Given the description of an element on the screen output the (x, y) to click on. 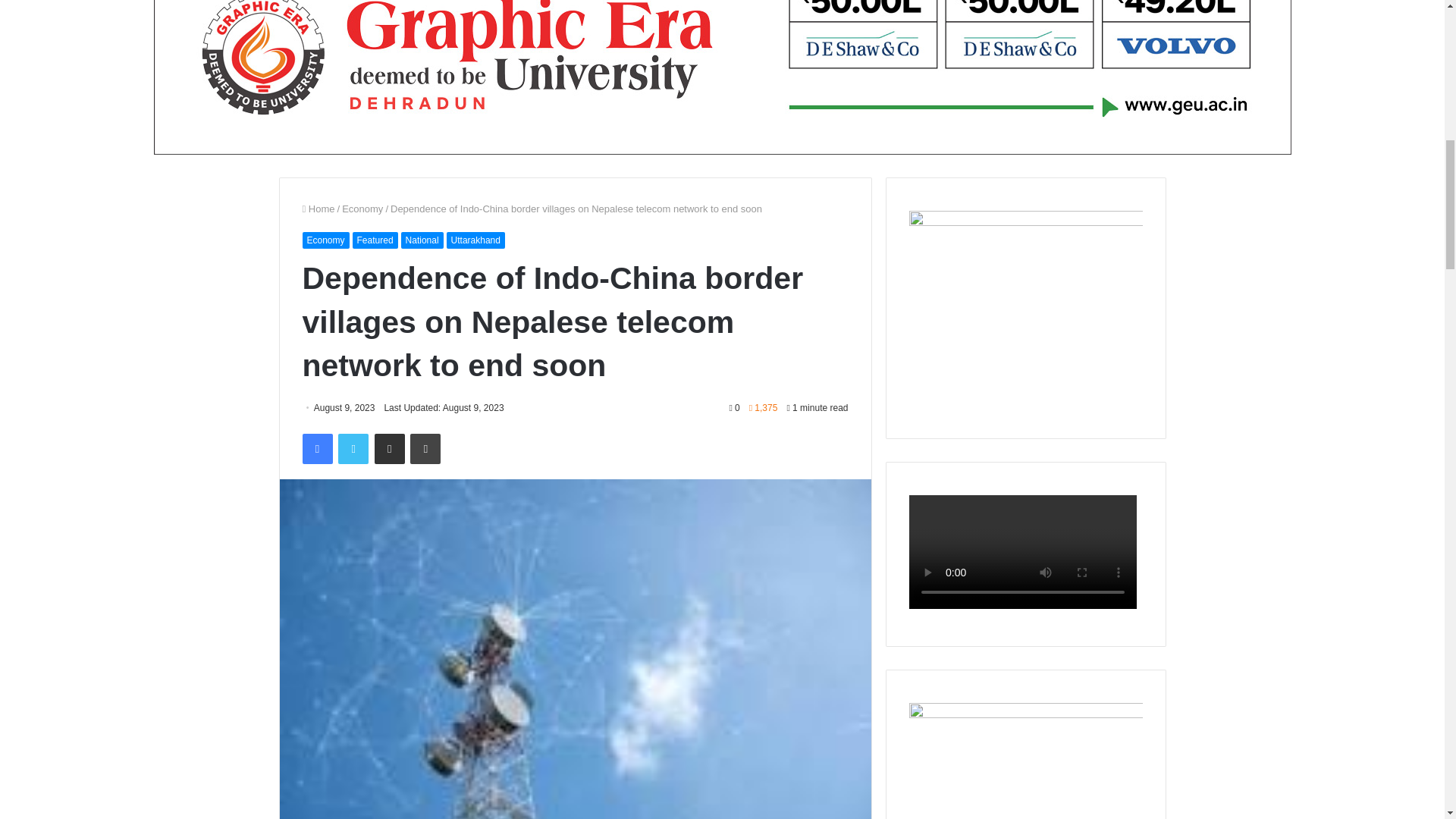
Print (425, 449)
Economy (362, 208)
Share via Email (389, 449)
Economy (325, 239)
Twitter (352, 449)
Facebook (316, 449)
Facebook (316, 449)
National (422, 239)
Share via Email (389, 449)
Twitter (352, 449)
